Given the description of an element on the screen output the (x, y) to click on. 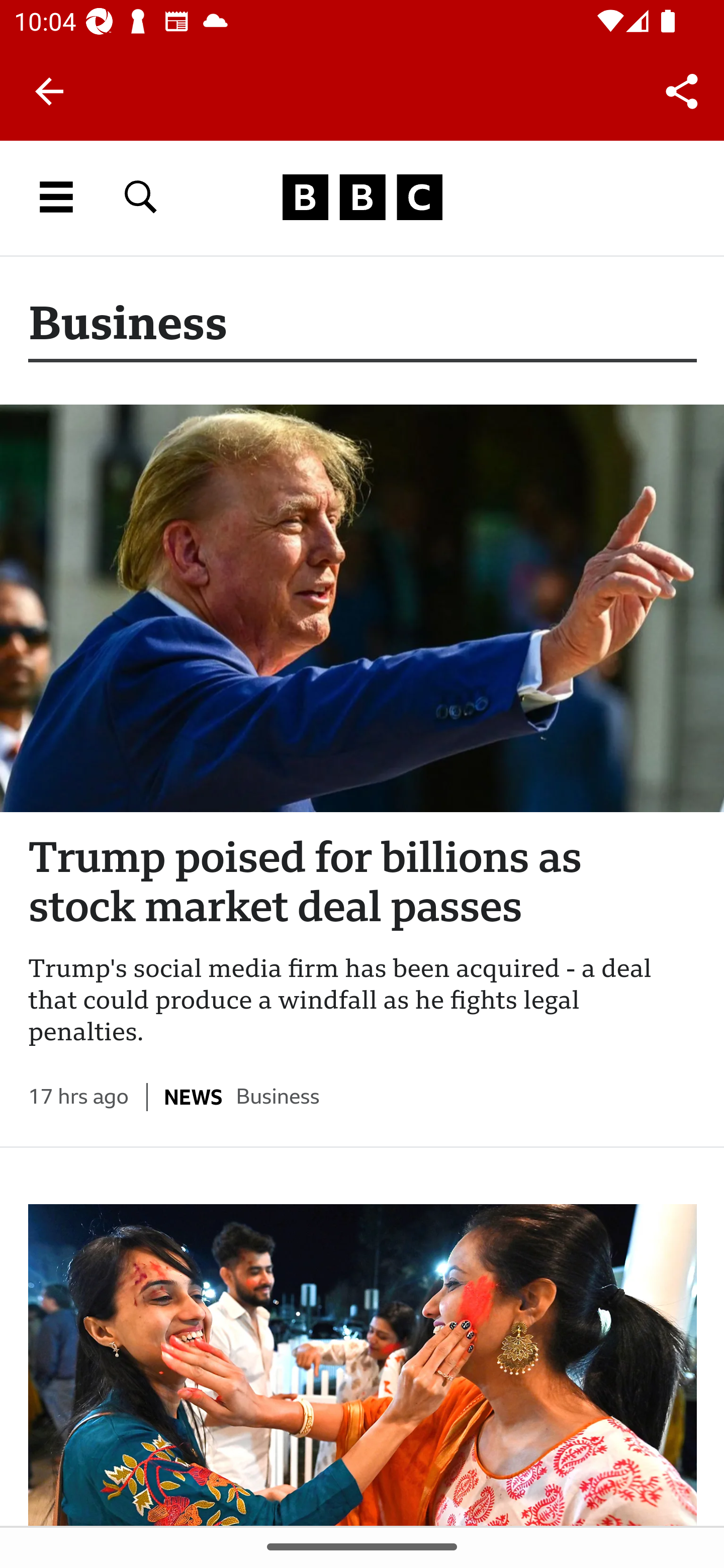
Back (49, 91)
Share (681, 90)
www.bbc (362, 196)
